Given the description of an element on the screen output the (x, y) to click on. 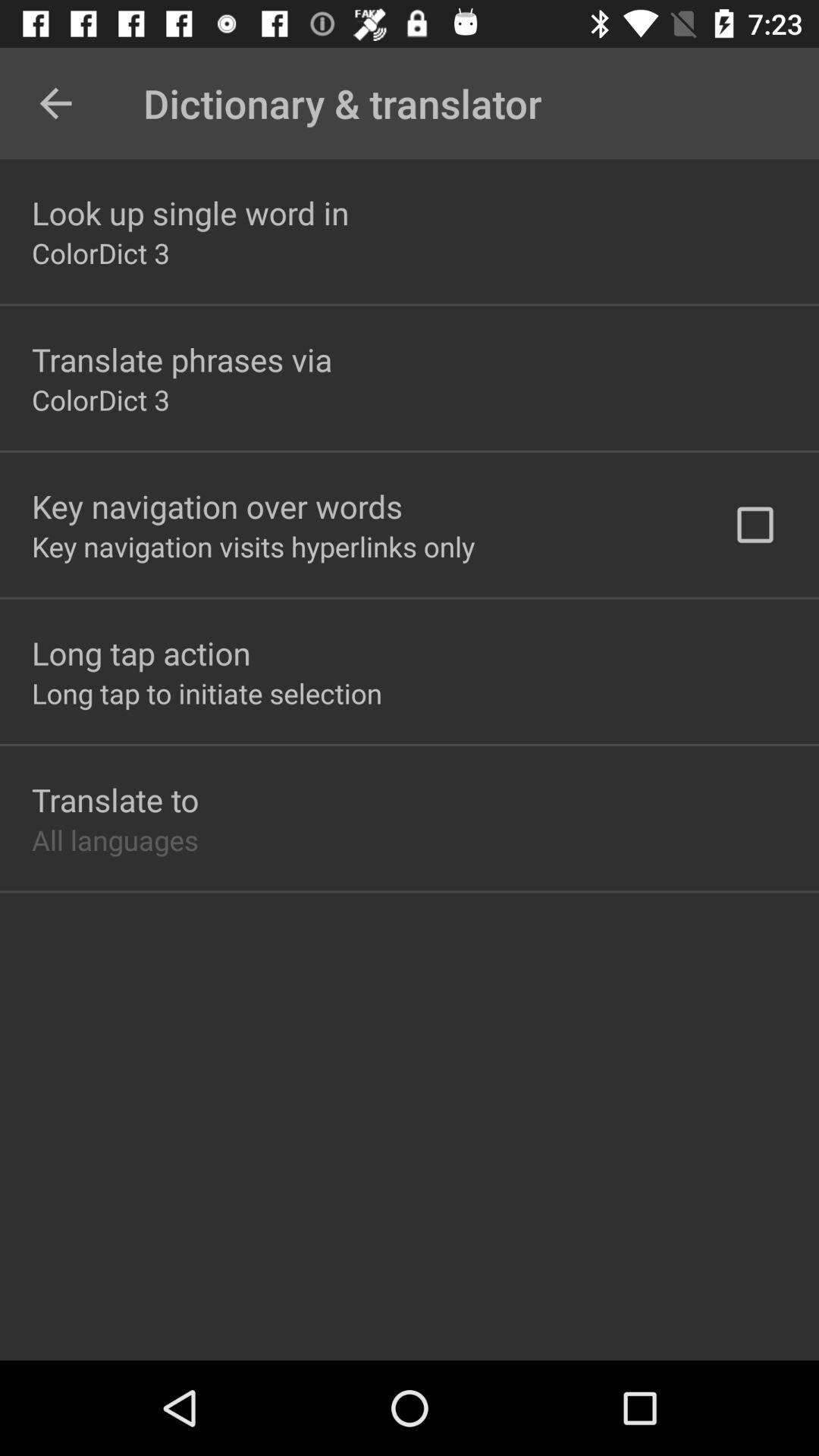
go back to previous screen (55, 103)
